Given the description of an element on the screen output the (x, y) to click on. 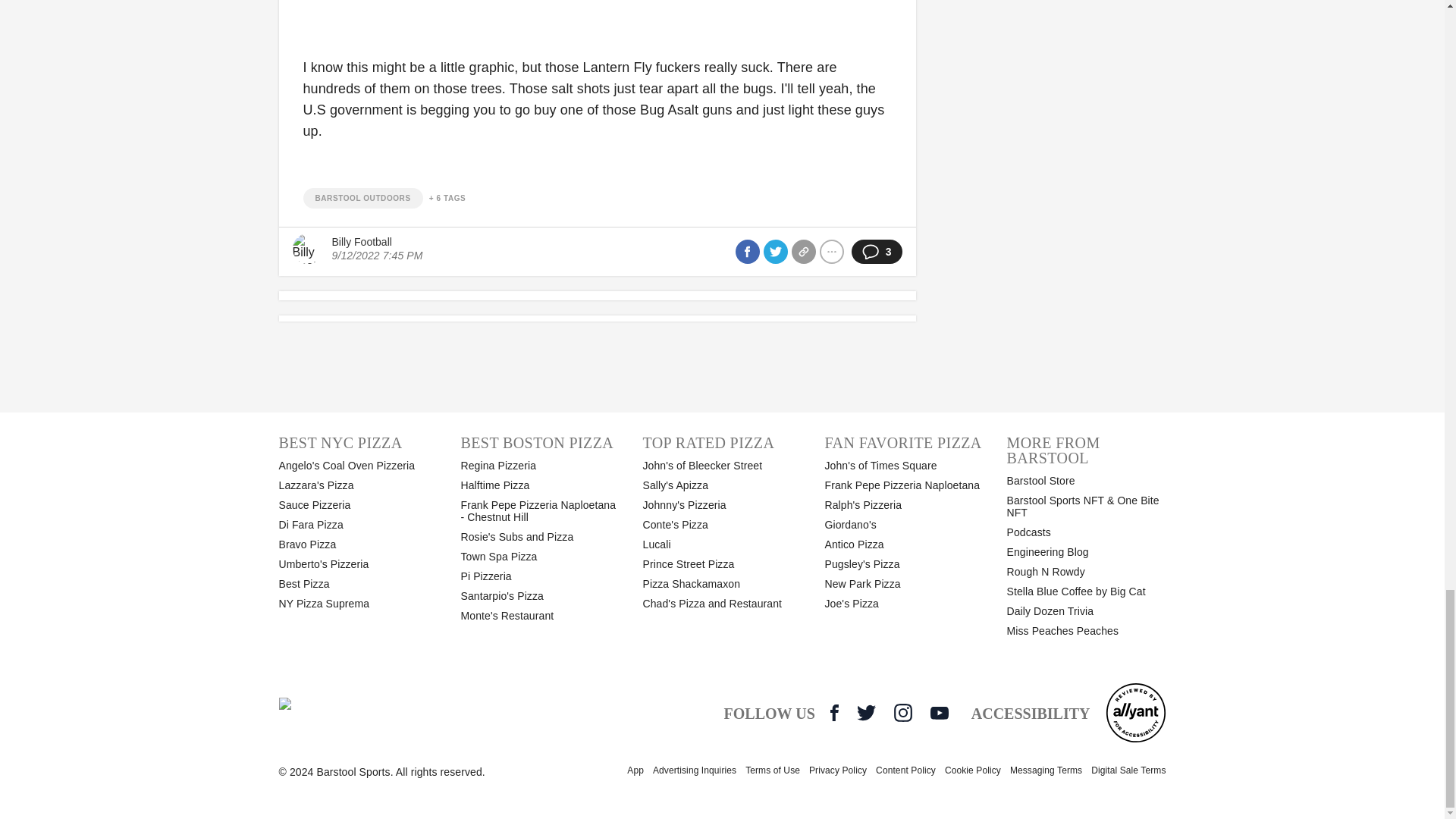
YouTube Icon (939, 712)
Reviewed by Allyant for accessibility (1135, 712)
Instagram Icon (902, 712)
Twitter Icon (866, 712)
